Given the description of an element on the screen output the (x, y) to click on. 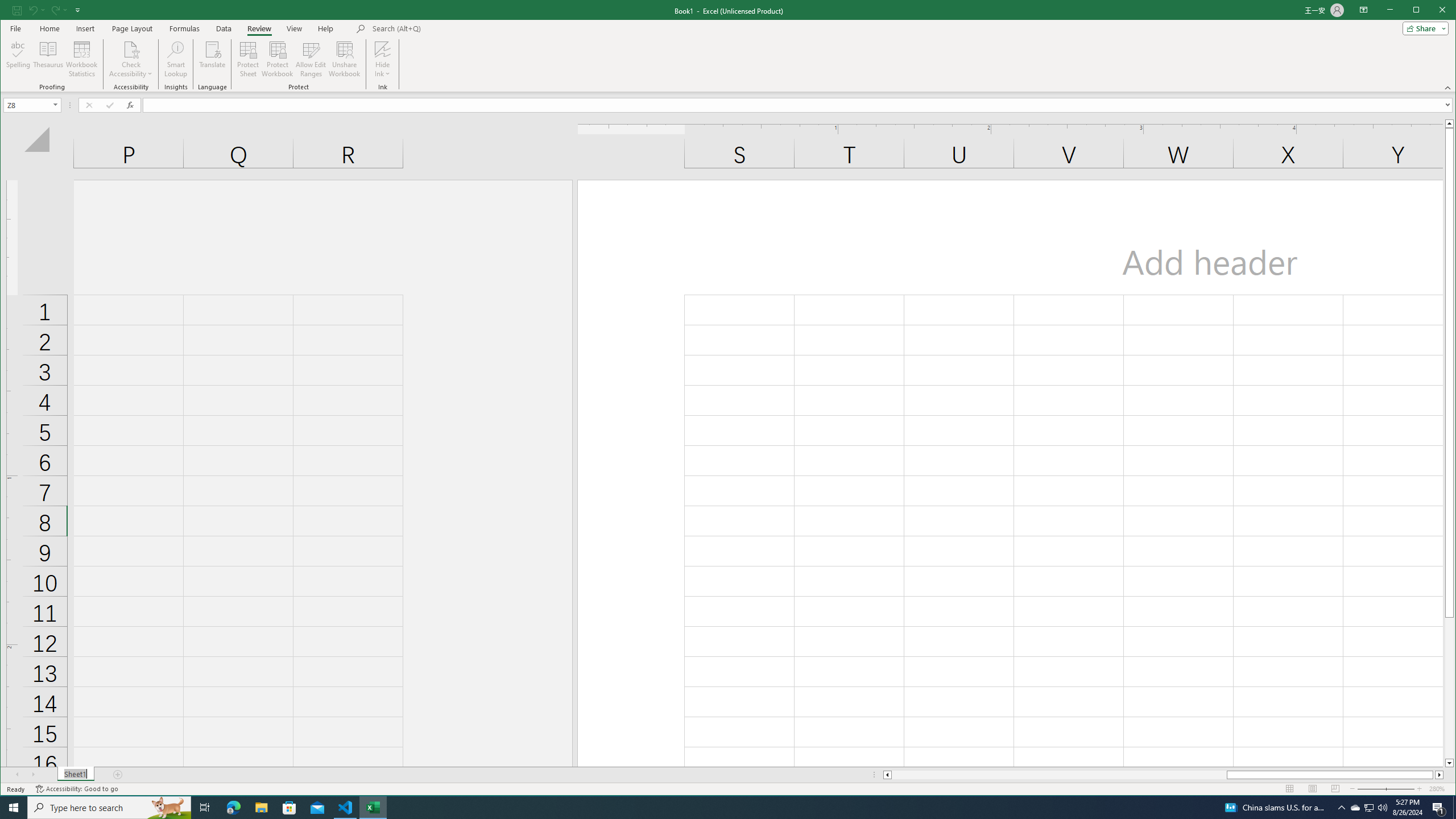
User Promoted Notification Area (1368, 807)
Start (1355, 807)
